Given the description of an element on the screen output the (x, y) to click on. 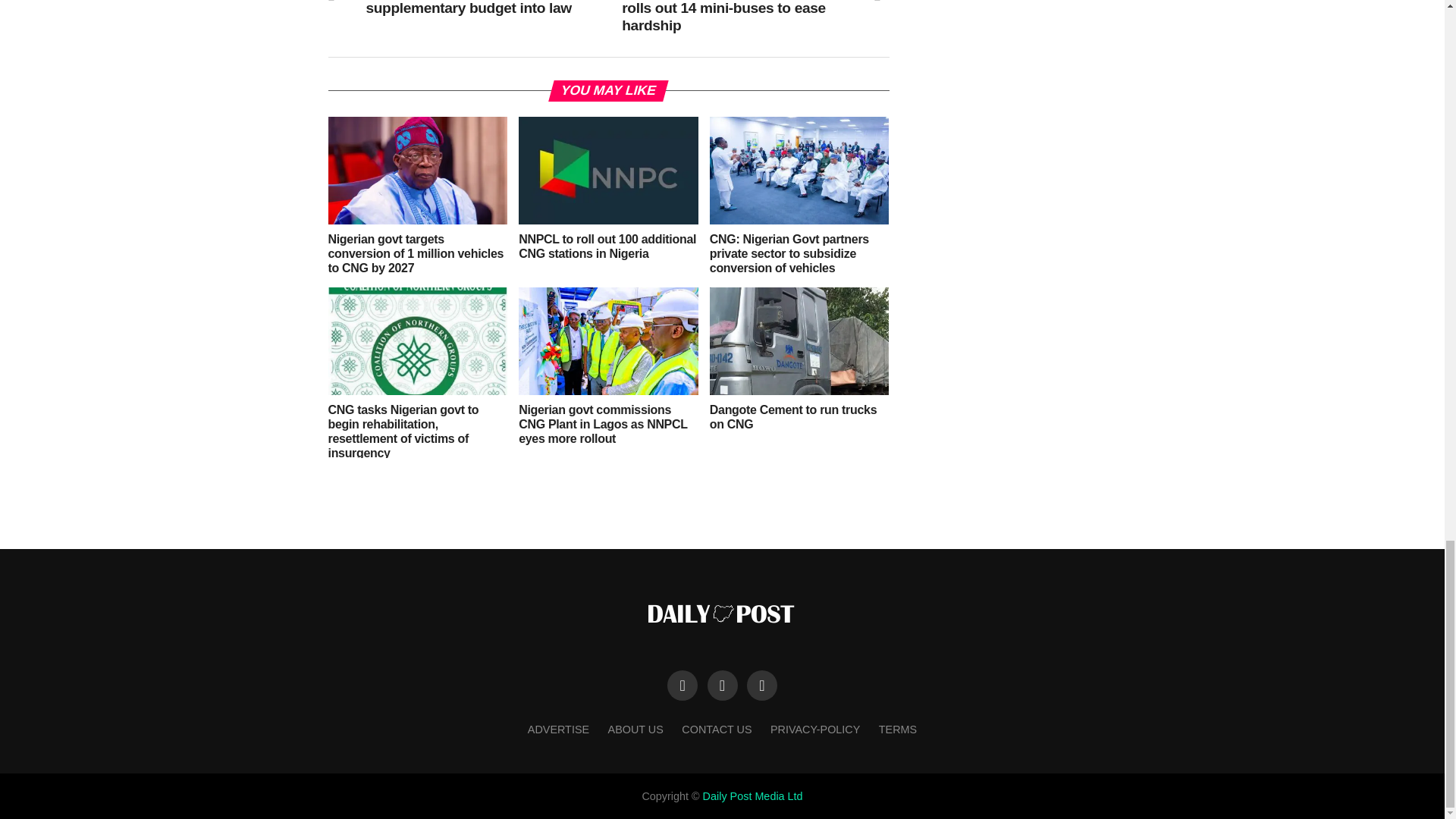
CONTACT US (716, 729)
ABOUT US (635, 729)
ADVERTISE (558, 729)
